Given the description of an element on the screen output the (x, y) to click on. 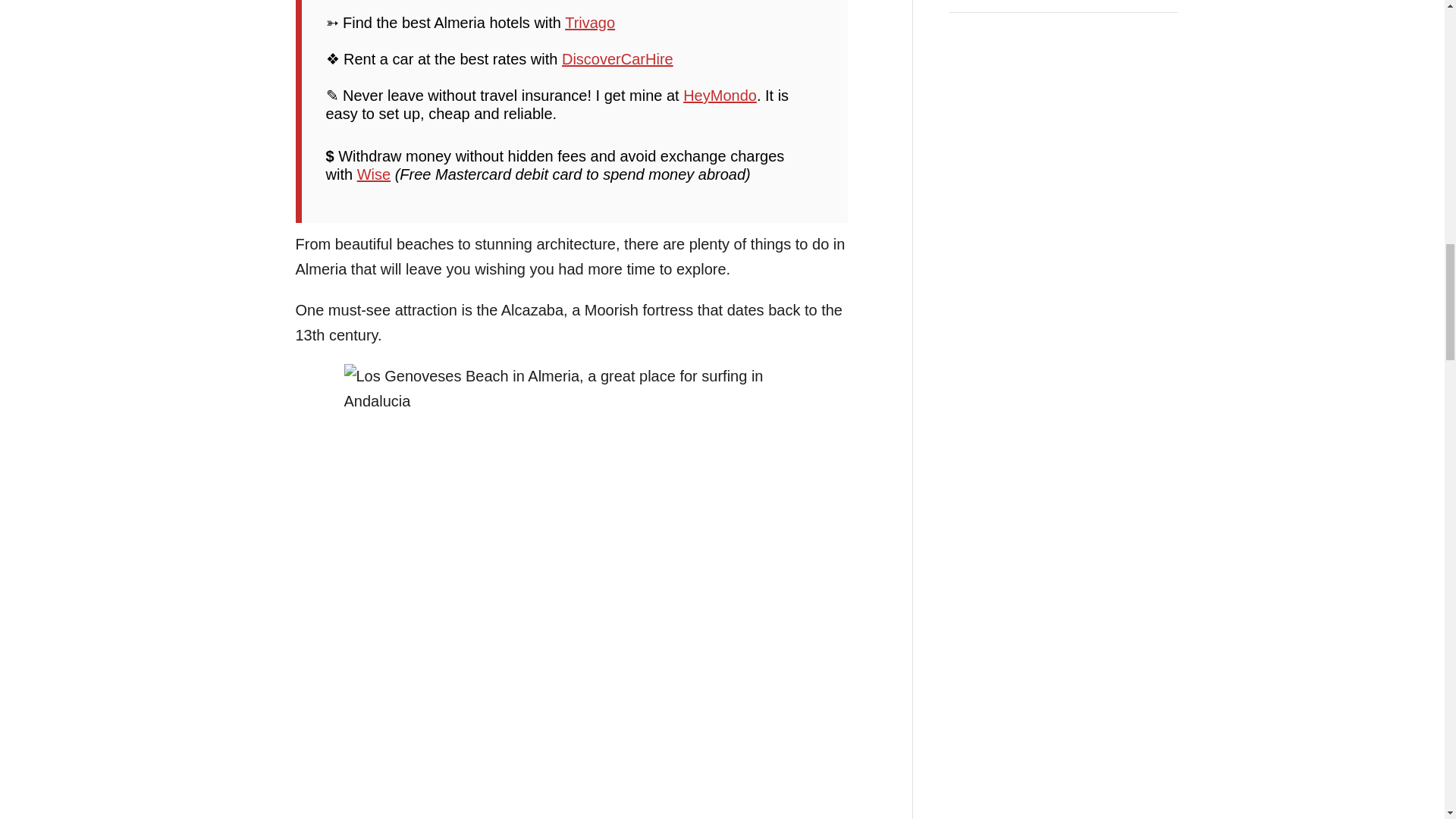
Trivago (589, 22)
